Given the description of an element on the screen output the (x, y) to click on. 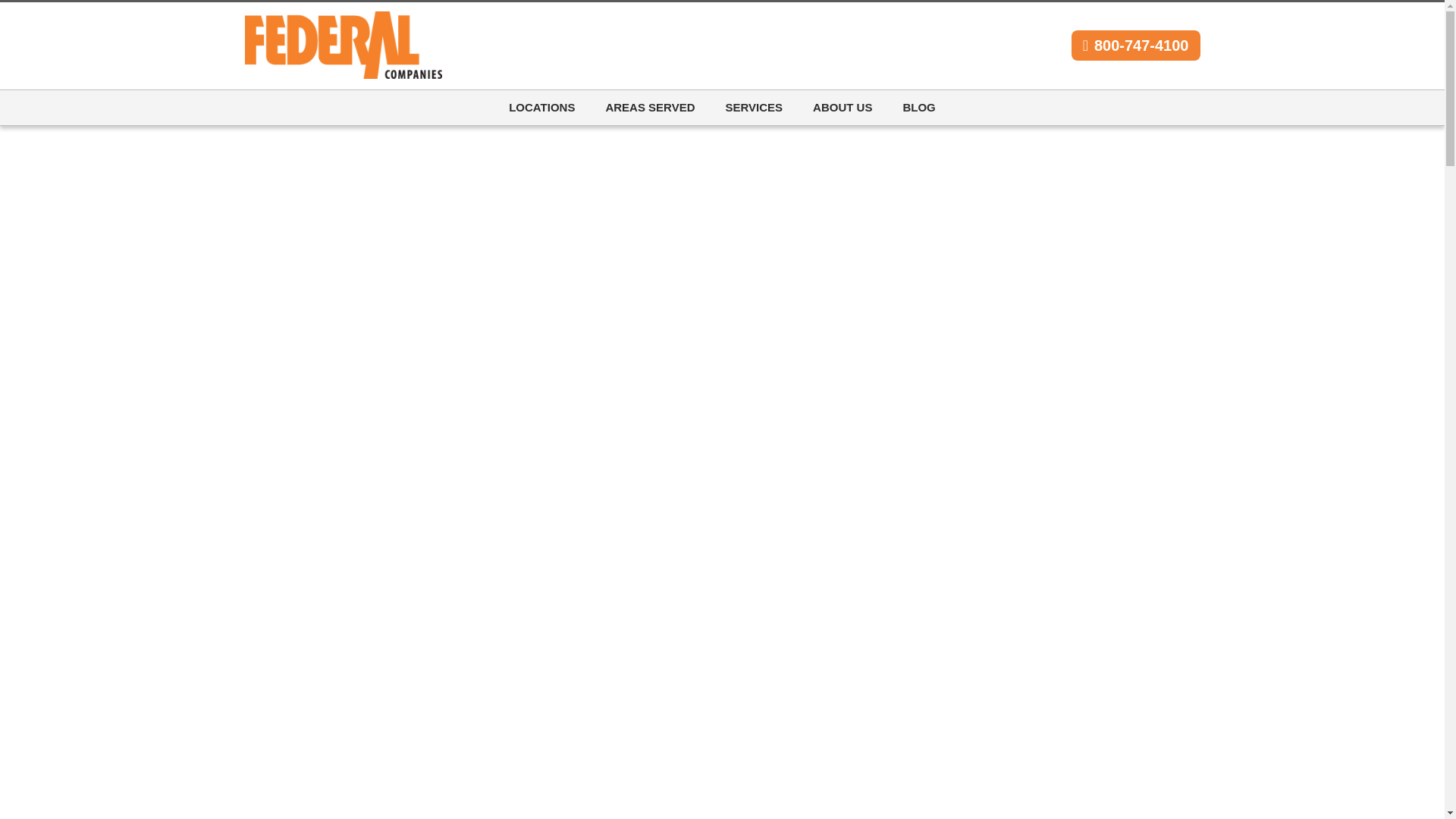
800-747-4100 (1135, 45)
